Given the description of an element on the screen output the (x, y) to click on. 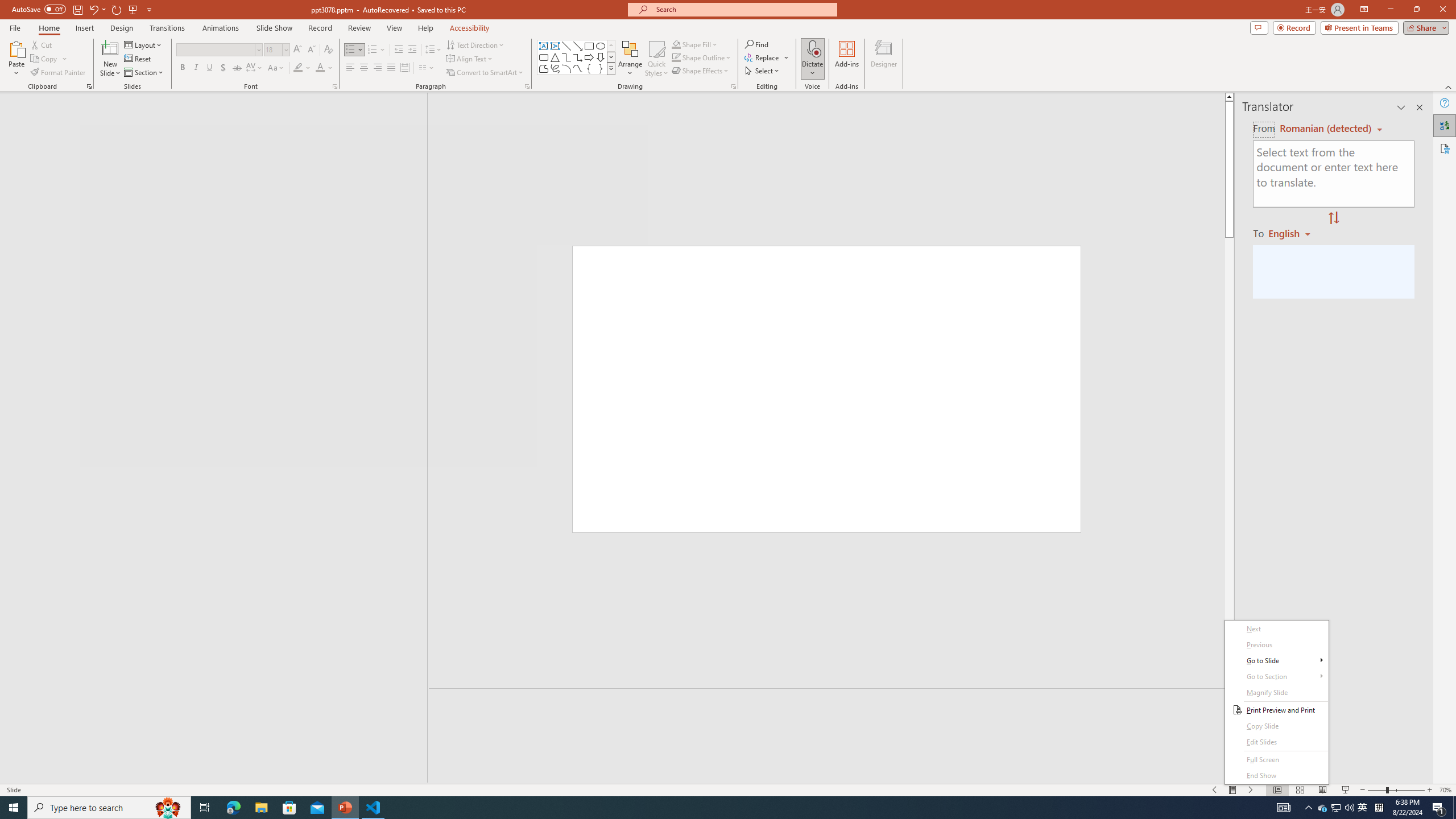
Microsoft search (742, 9)
New Slide (110, 58)
Close pane (1419, 107)
Font (215, 49)
Justify (390, 67)
Shapes (611, 68)
Freeform: Shape (543, 68)
Shape Fill (694, 44)
Running applications (1335, 807)
Open (700, 807)
